Given the description of an element on the screen output the (x, y) to click on. 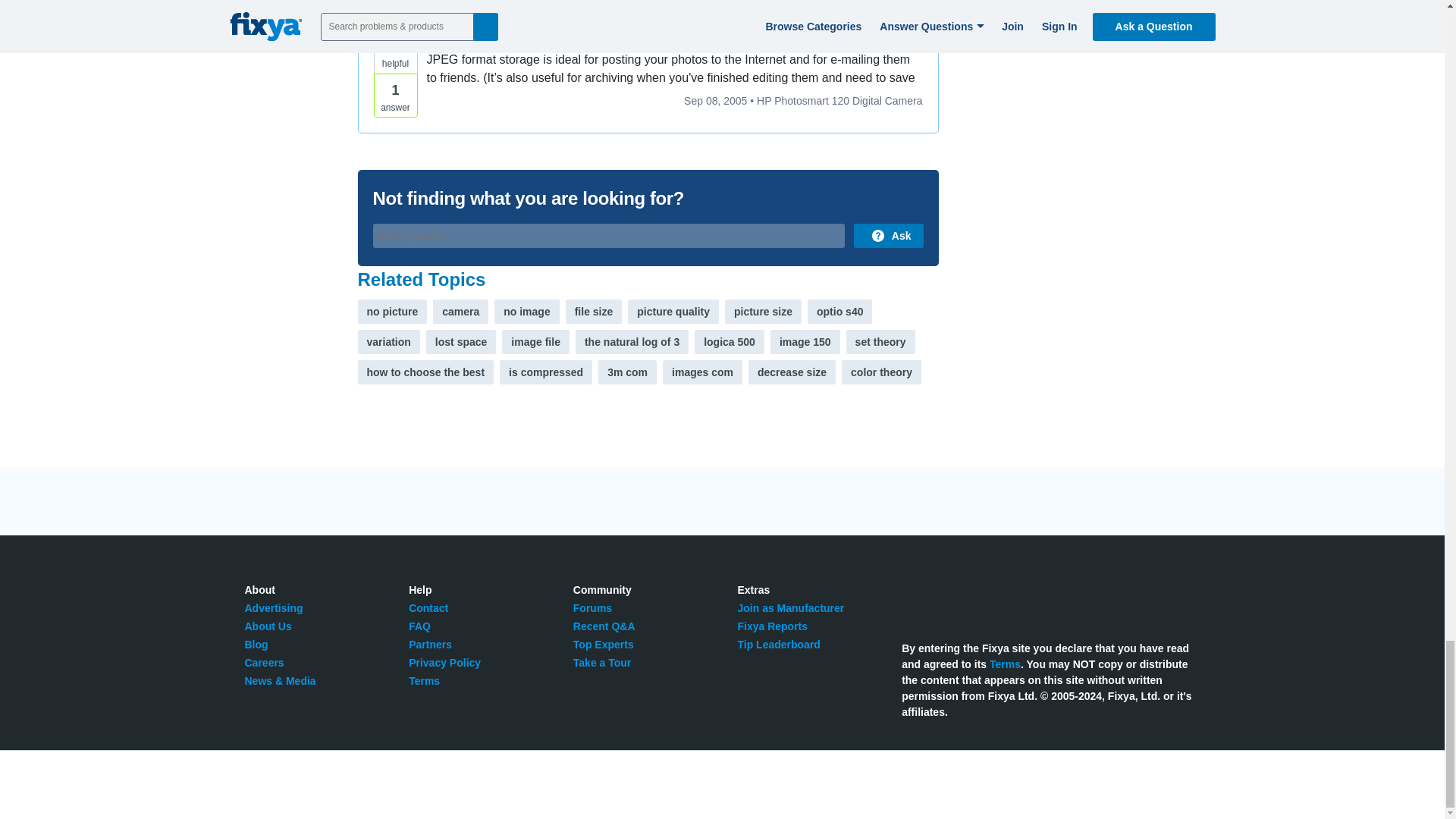
Ask (888, 235)
